Given the description of an element on the screen output the (x, y) to click on. 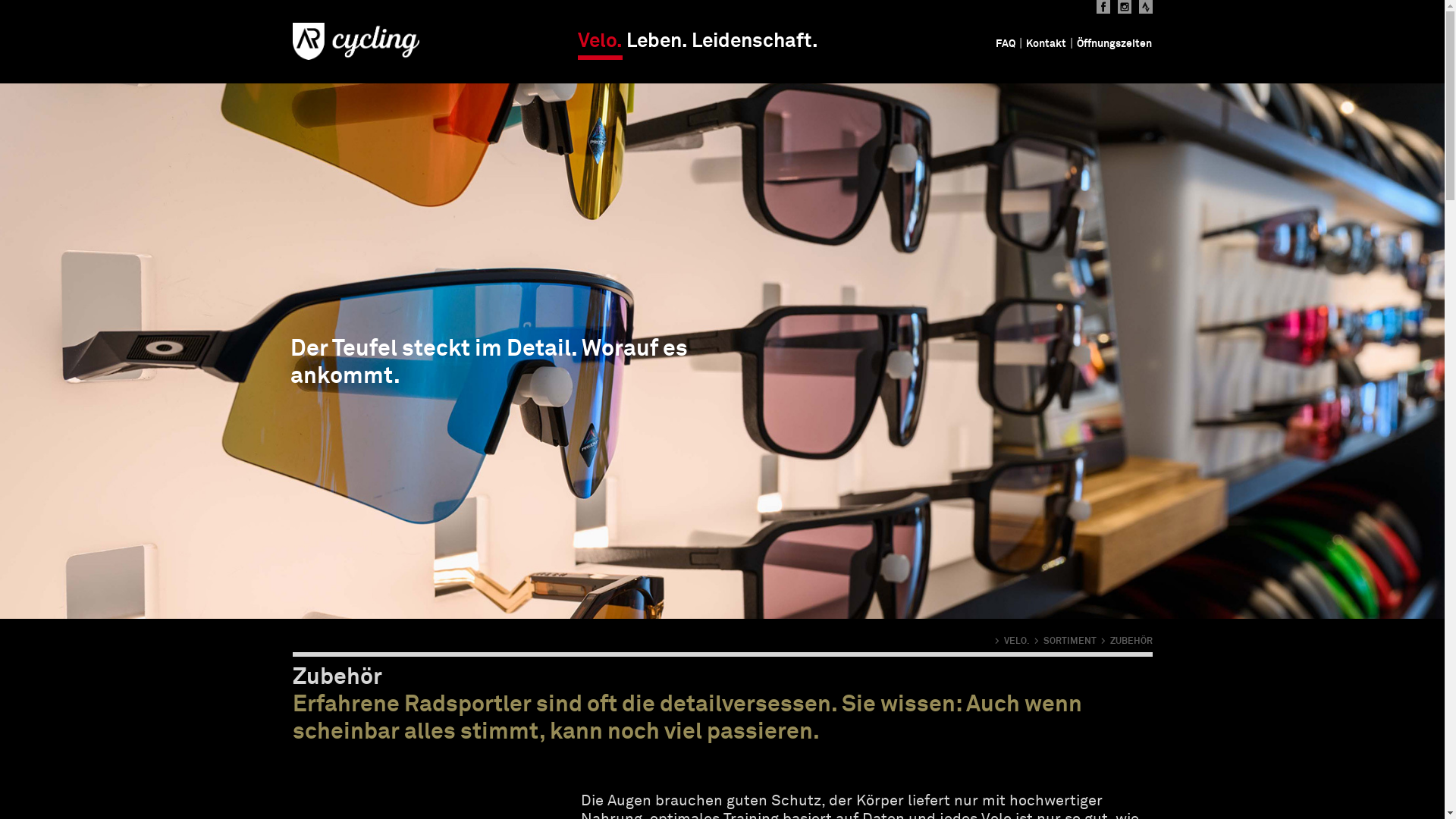
Leidenschaft. Element type: text (754, 41)
FAQ Element type: text (1005, 43)
Leben. Element type: text (656, 41)
Kontakt Element type: text (1046, 43)
Velo. Element type: text (599, 45)
